Given the description of an element on the screen output the (x, y) to click on. 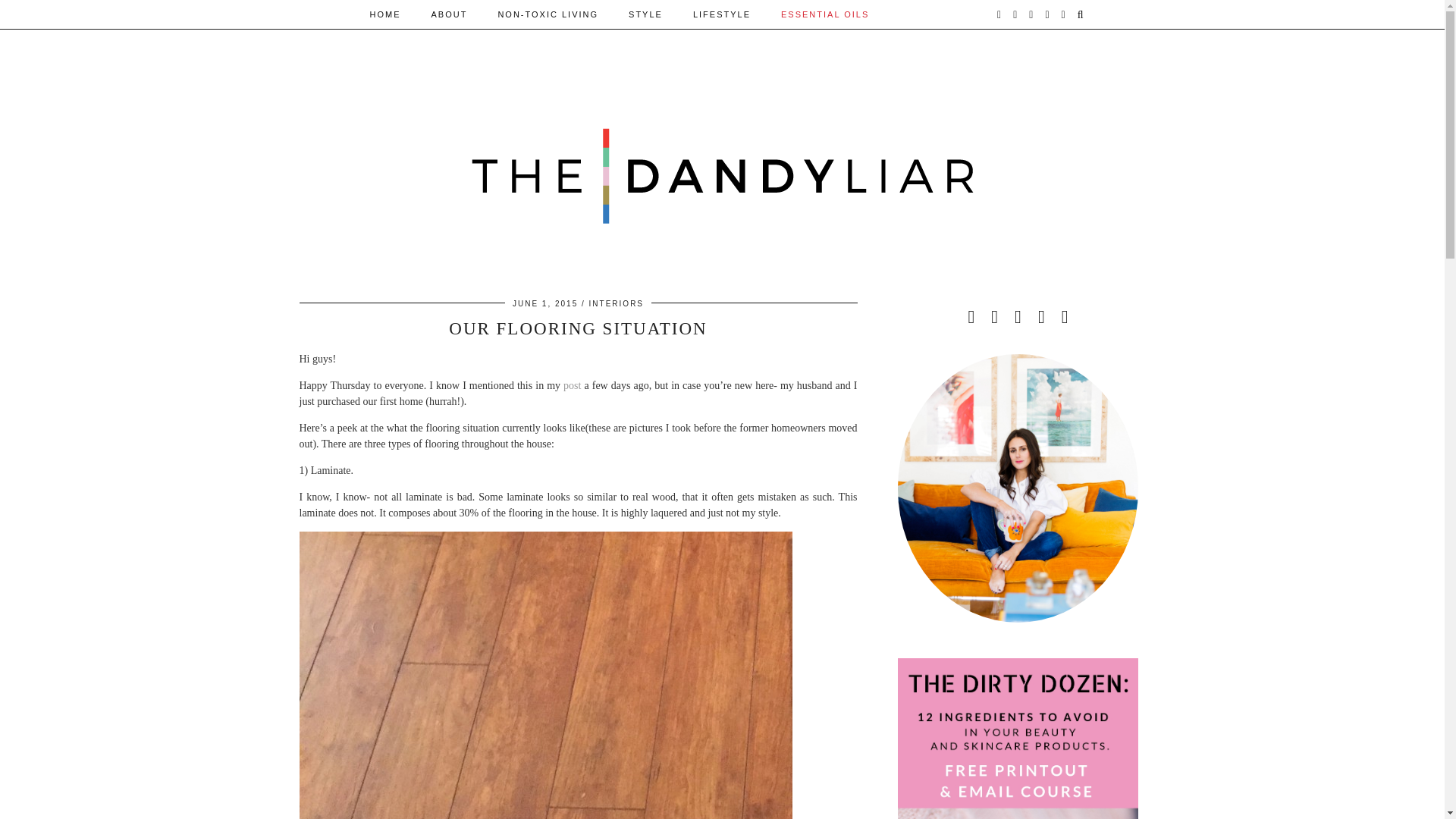
twitter (1000, 14)
instagram (1015, 14)
